Given the description of an element on the screen output the (x, y) to click on. 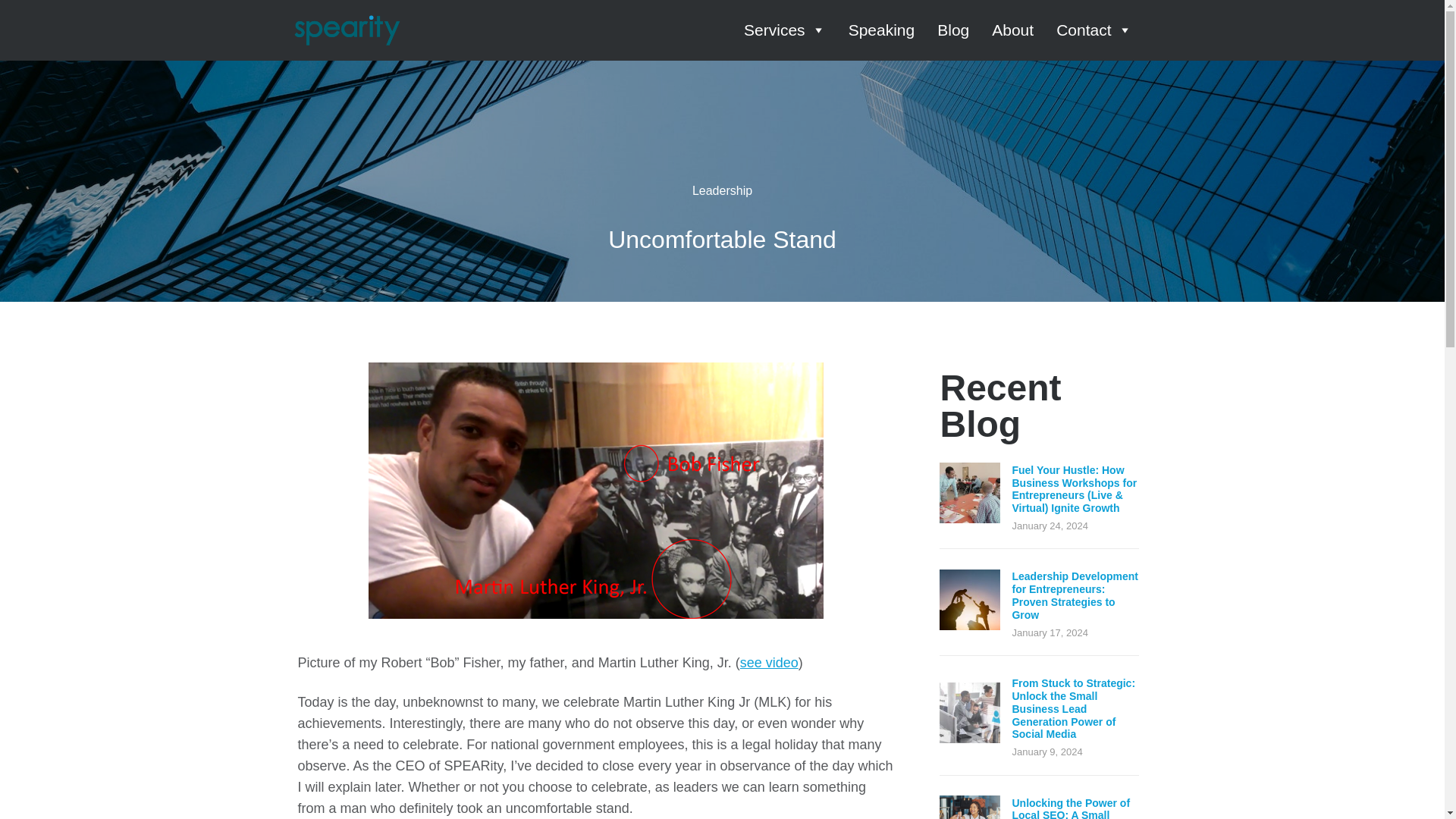
Blog (953, 30)
see video (768, 662)
Contact (1094, 30)
Speaking (881, 30)
Services (784, 30)
About (1012, 30)
